Given the description of an element on the screen output the (x, y) to click on. 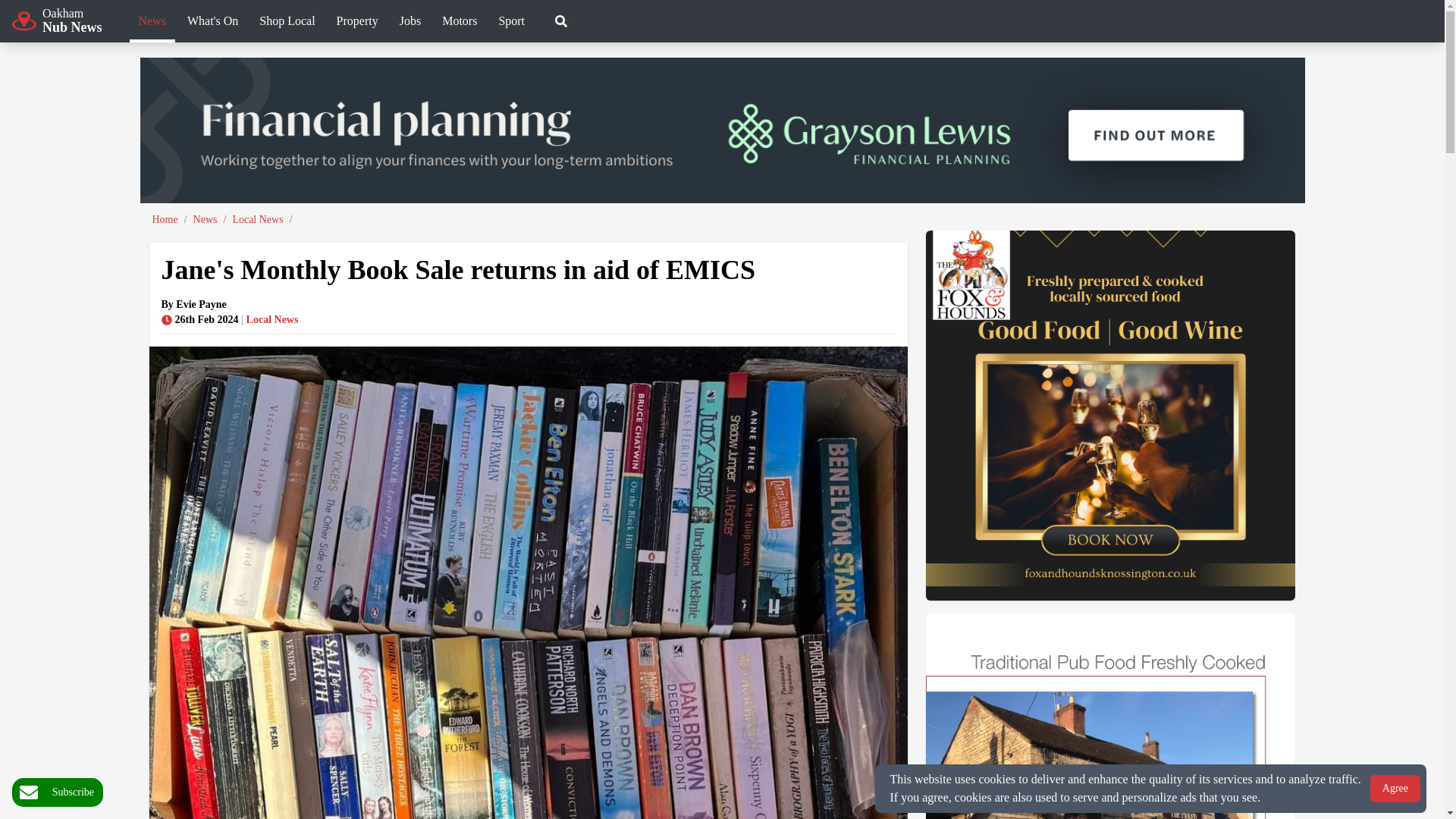
3rd party ad content (635, 20)
What's On (212, 22)
News (151, 22)
Subscribe (57, 792)
Shop Local (56, 20)
